Given the description of an element on the screen output the (x, y) to click on. 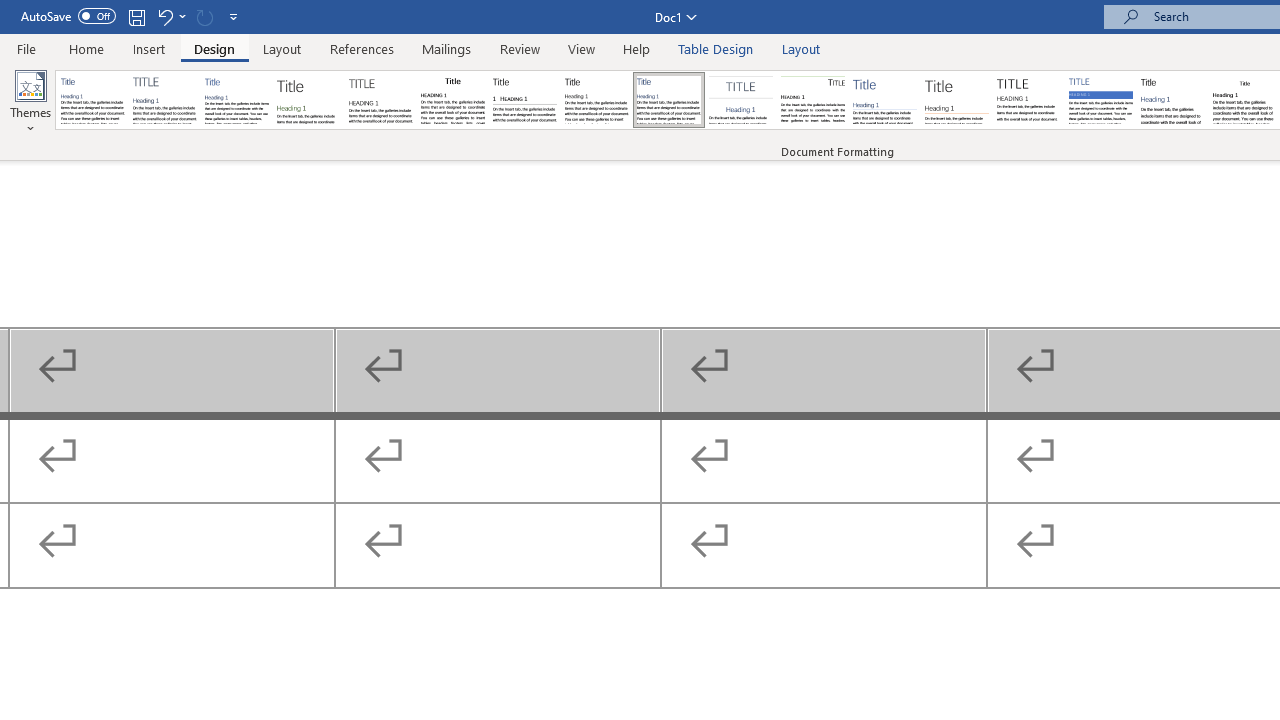
Lines (Distinctive) (812, 100)
Casual (669, 100)
Can't Repeat (204, 15)
Black & White (Word 2013) (596, 100)
Basic (Simple) (236, 100)
Undo Outline Move Up (164, 15)
Minimalist (1028, 100)
Themes (30, 102)
Lines (Stylish) (957, 100)
